Given the description of an element on the screen output the (x, y) to click on. 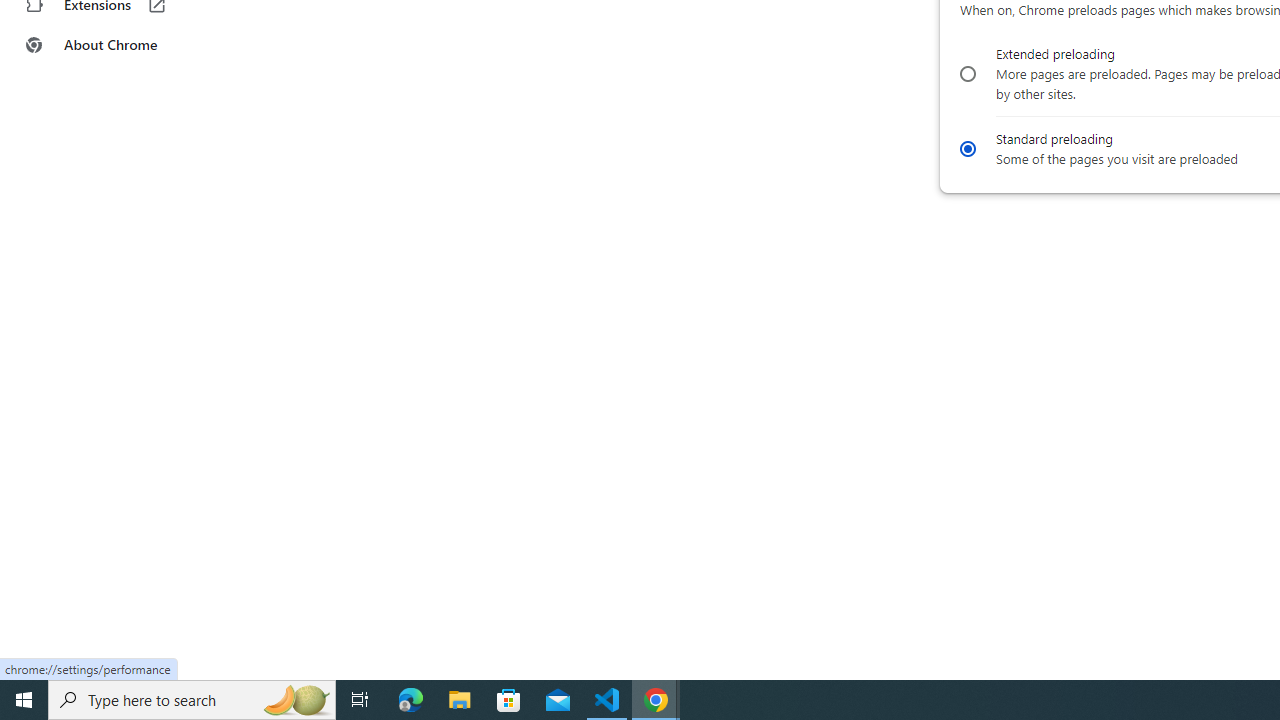
About Chrome (124, 44)
Extended preloading (966, 74)
Standard preloading (966, 147)
